Given the description of an element on the screen output the (x, y) to click on. 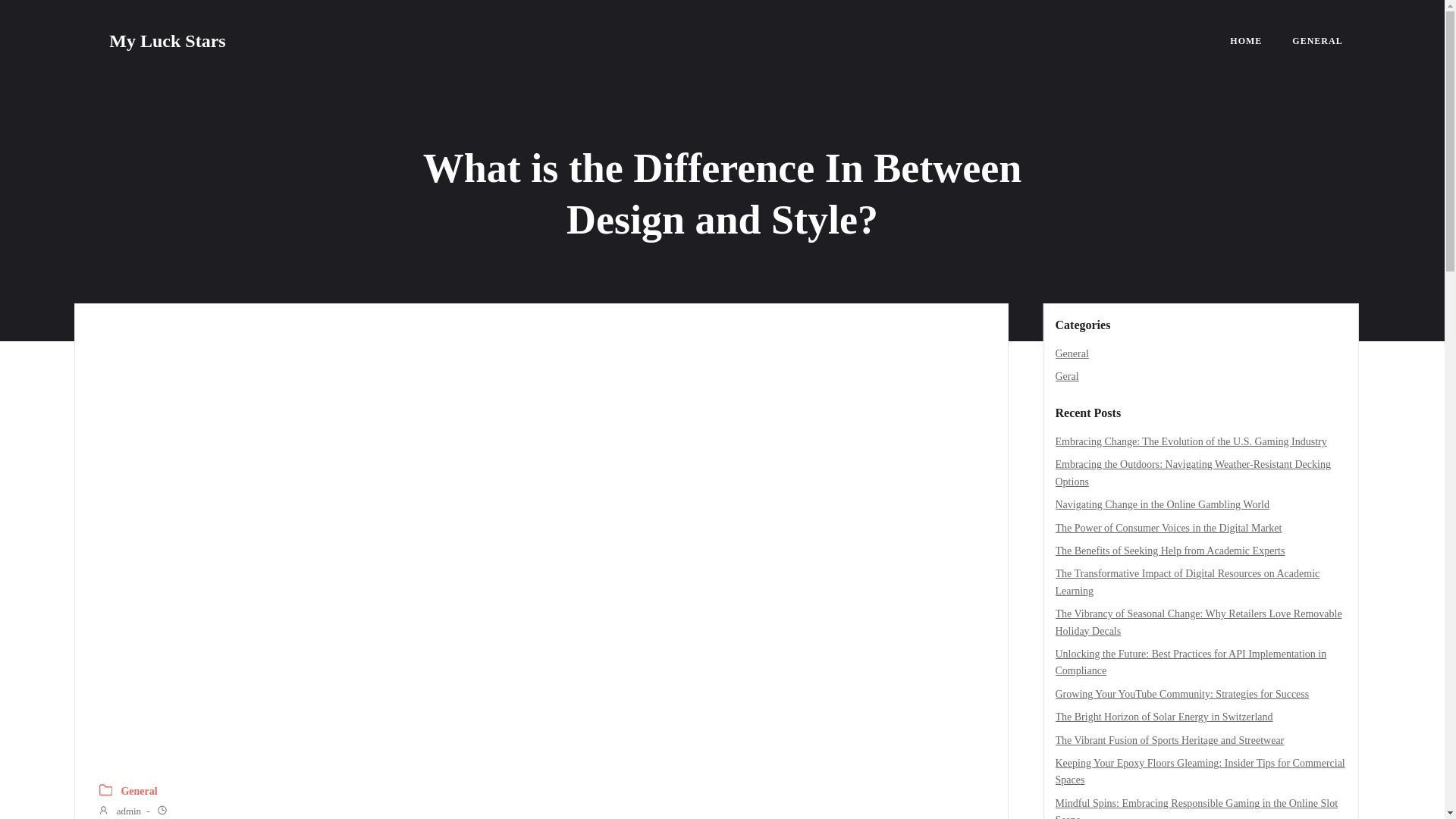
The Benefits of Seeking Help from Academic Experts (1170, 550)
Navigating Change in the Online Gambling World (1162, 504)
admin (119, 811)
The Vibrant Fusion of Sports Heritage and Streetwear (1169, 739)
Geral (1066, 376)
Growing Your YouTube Community: Strategies for Success (1181, 694)
Embracing Change: The Evolution of the U.S. Gaming Industry (1190, 441)
